Given the description of an element on the screen output the (x, y) to click on. 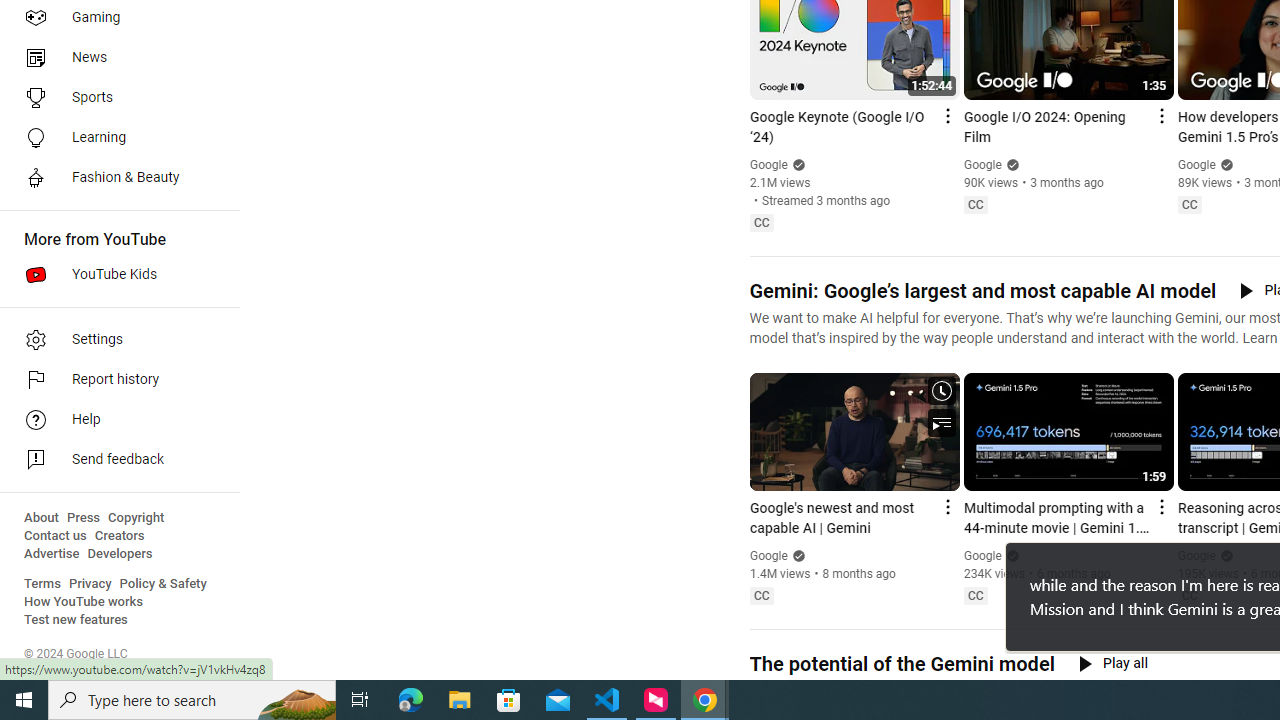
Learning (113, 137)
Play all (1113, 663)
Copyright (136, 518)
Fashion & Beauty (113, 177)
Developers (120, 554)
Send feedback (113, 459)
Creators (118, 536)
Report history (113, 380)
